Given the description of an element on the screen output the (x, y) to click on. 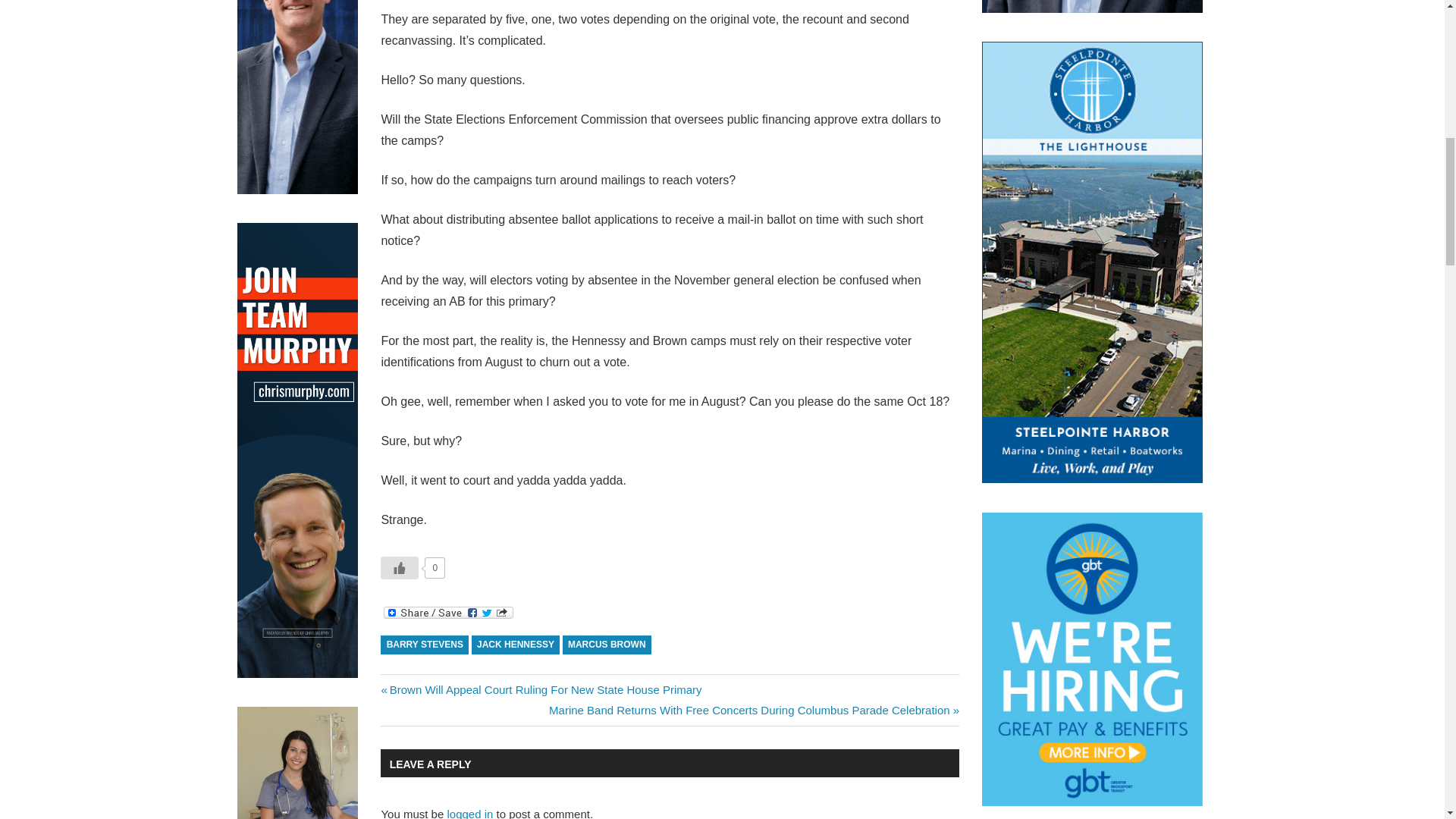
logged in (469, 813)
MARCUS BROWN (606, 644)
JACK HENNESSY (515, 644)
BARRY STEVENS (424, 644)
